Given the description of an element on the screen output the (x, y) to click on. 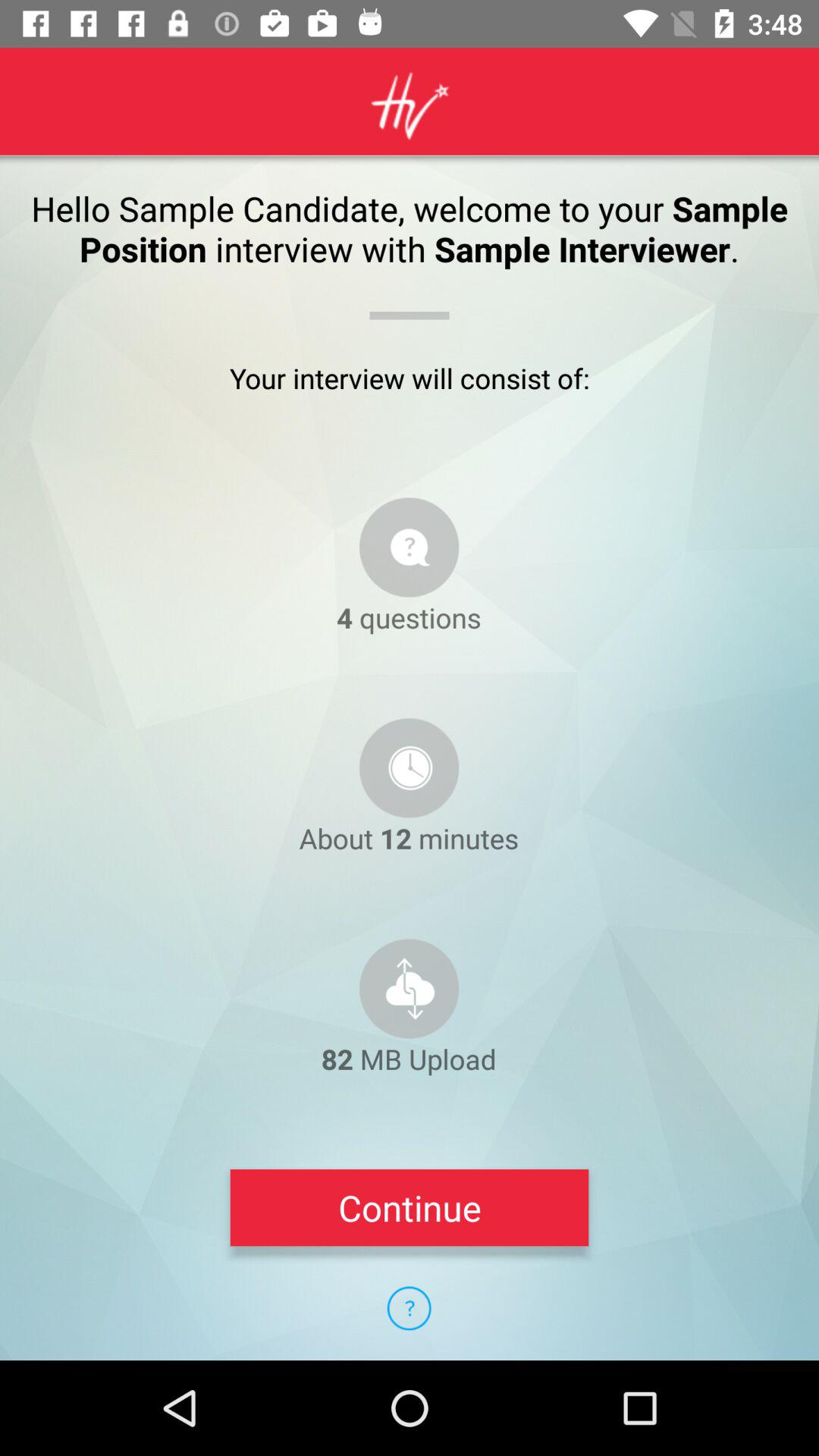
turn off item below continue icon (409, 1308)
